Given the description of an element on the screen output the (x, y) to click on. 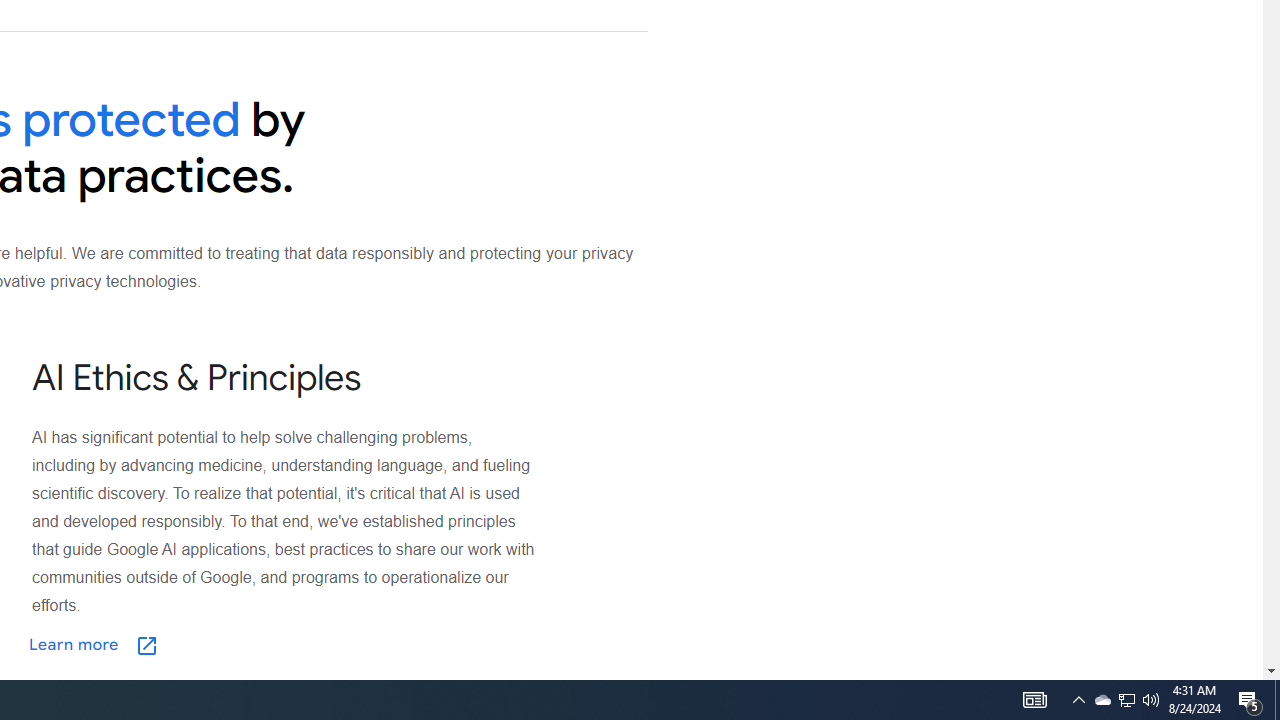
Learn more  (193, 645)
